Given the description of an element on the screen output the (x, y) to click on. 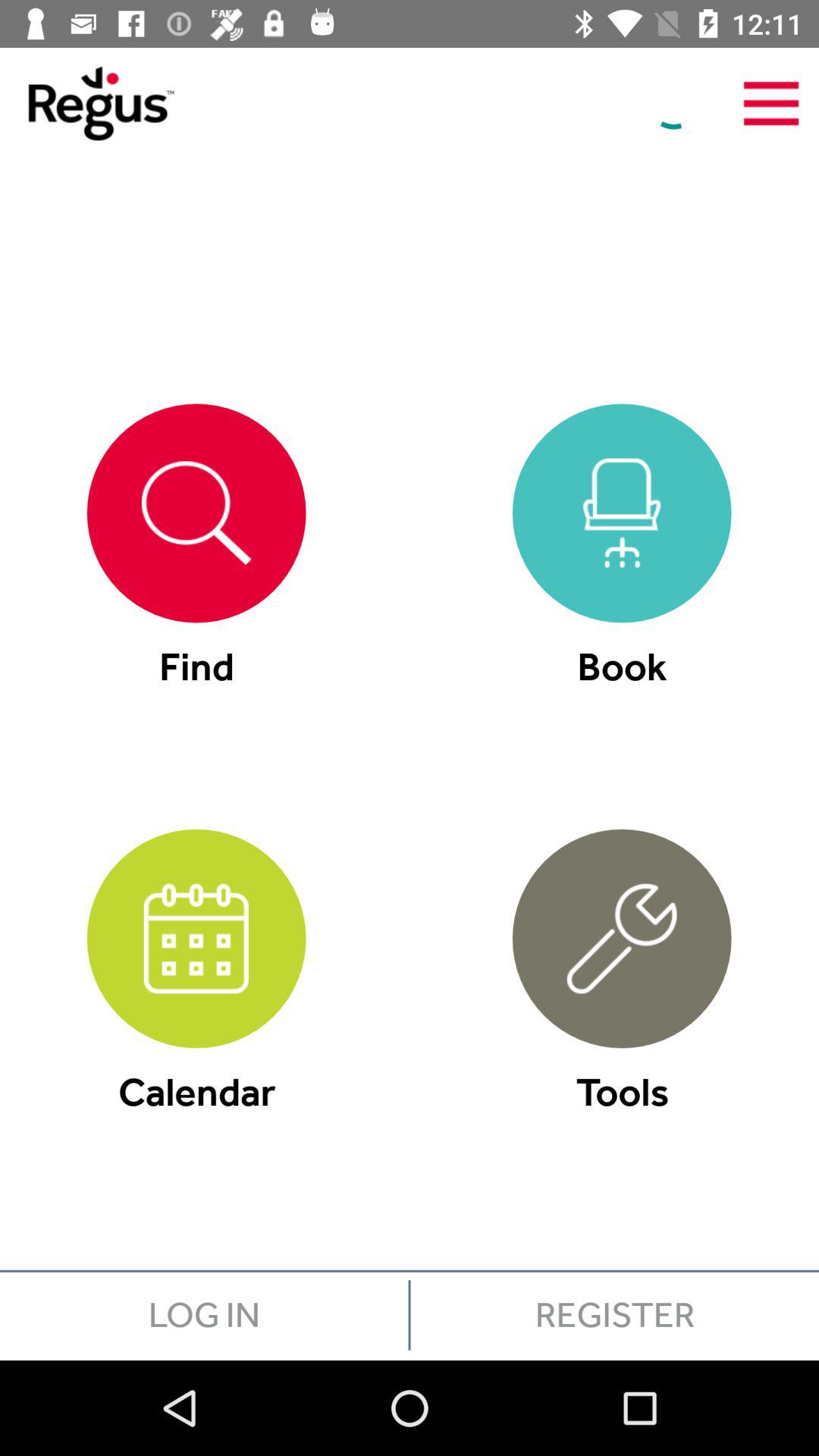
click icon below the tools icon (614, 1314)
